Given the description of an element on the screen output the (x, y) to click on. 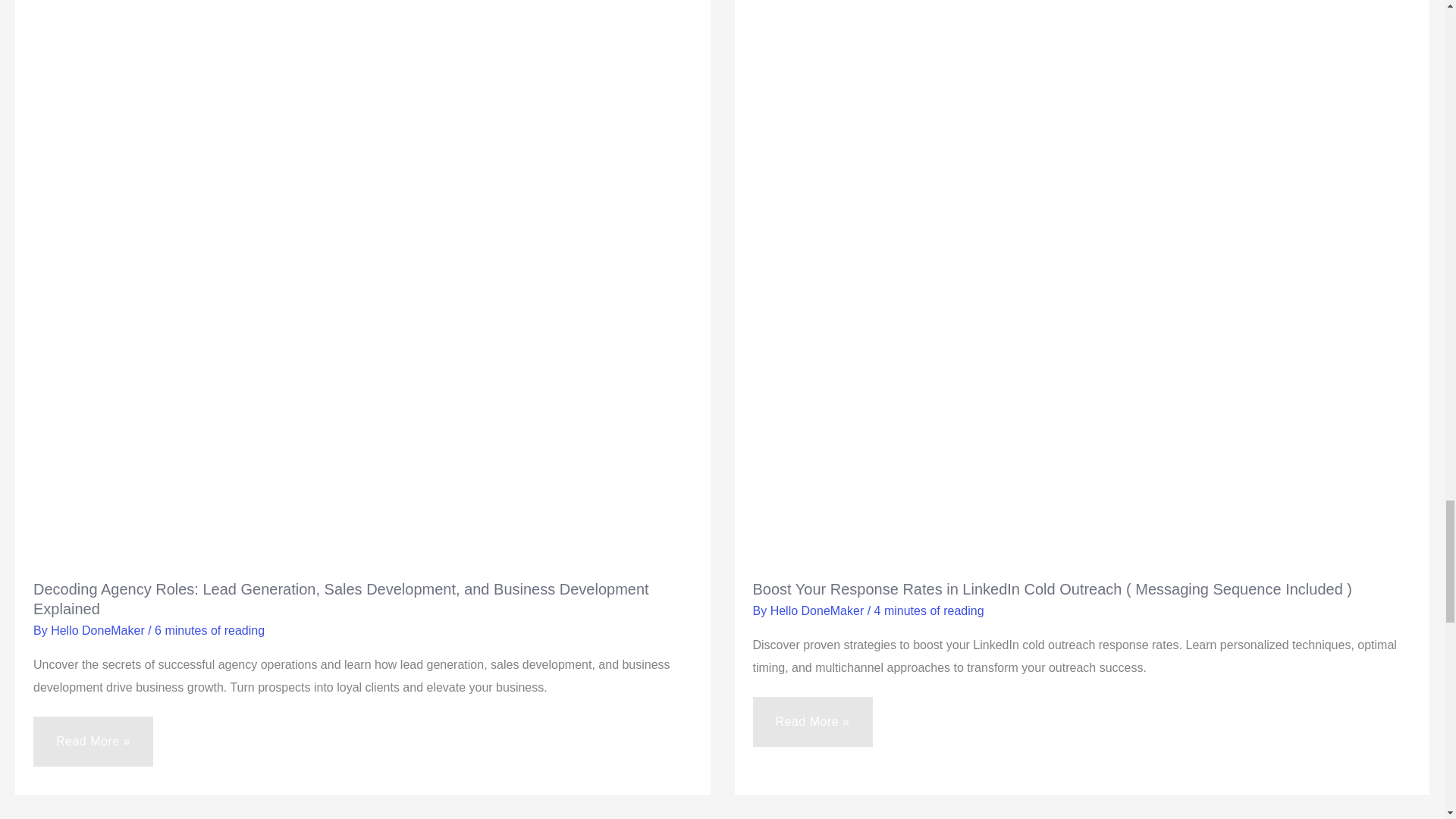
View all posts by Hello DoneMaker (818, 610)
View all posts by Hello DoneMaker (99, 630)
Hello DoneMaker (99, 630)
Hello DoneMaker (818, 610)
